Given the description of an element on the screen output the (x, y) to click on. 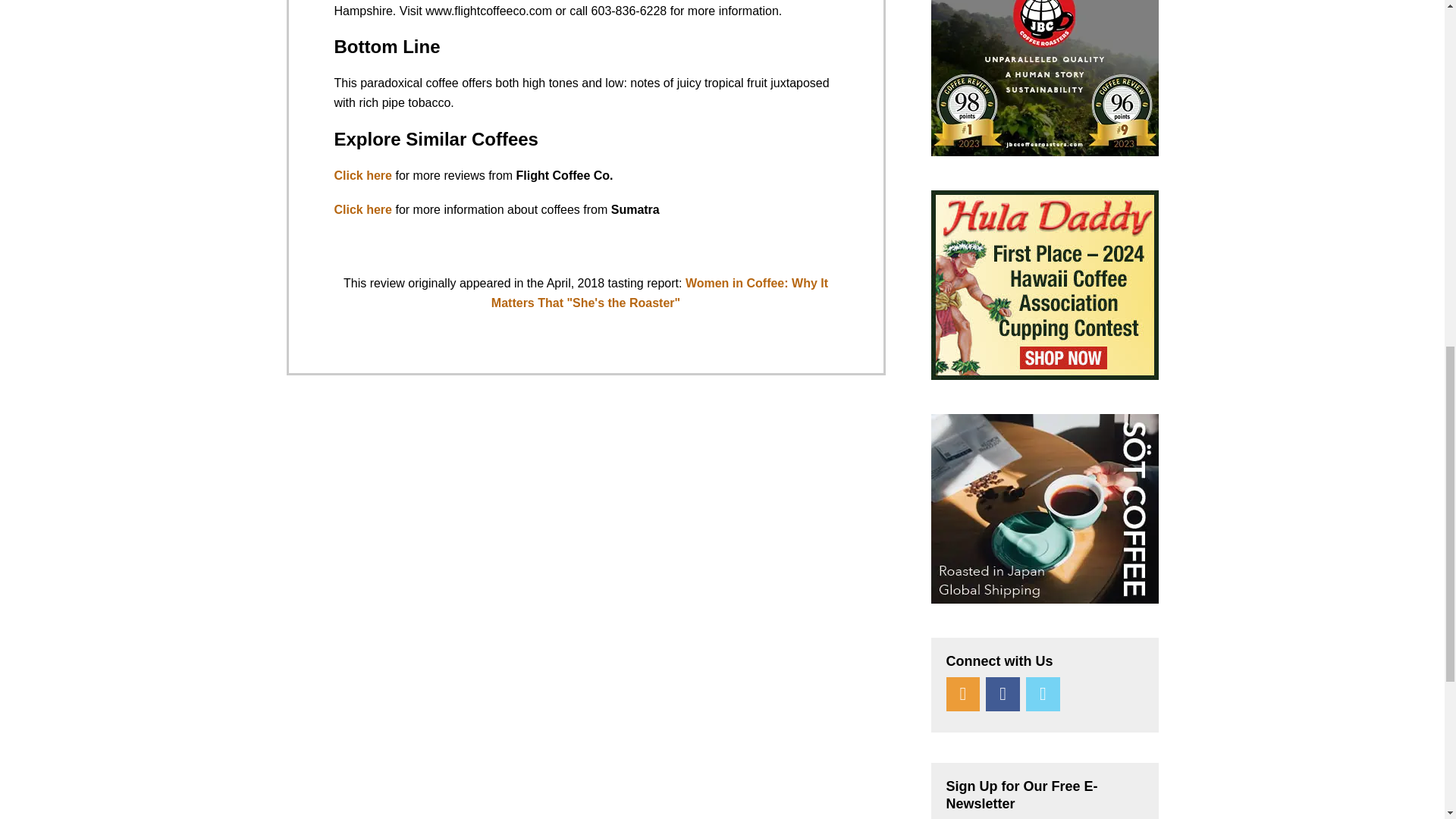
RSS (962, 694)
Facebook (1002, 694)
Click here for more reviews from Flight Coffee Co.. (362, 174)
Twitter (1042, 694)
